Given the description of an element on the screen output the (x, y) to click on. 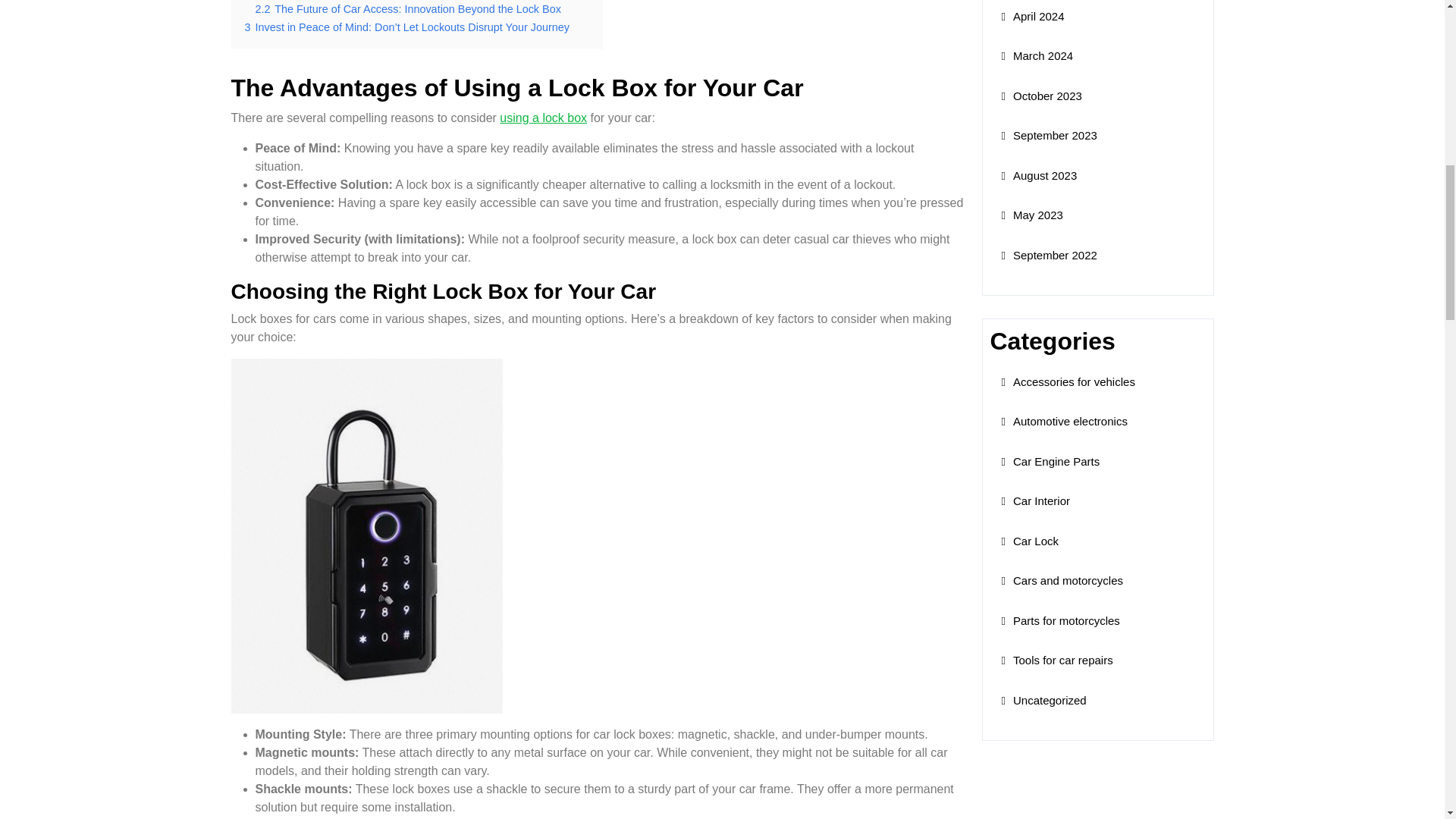
August 2023 (1039, 174)
September 2023 (1048, 134)
2.2 The Future of Car Access: Innovation Beyond the Lock Box (407, 9)
March 2024 (1037, 55)
April 2024 (1032, 15)
October 2023 (1041, 95)
using a lock box (542, 117)
